Given the description of an element on the screen output the (x, y) to click on. 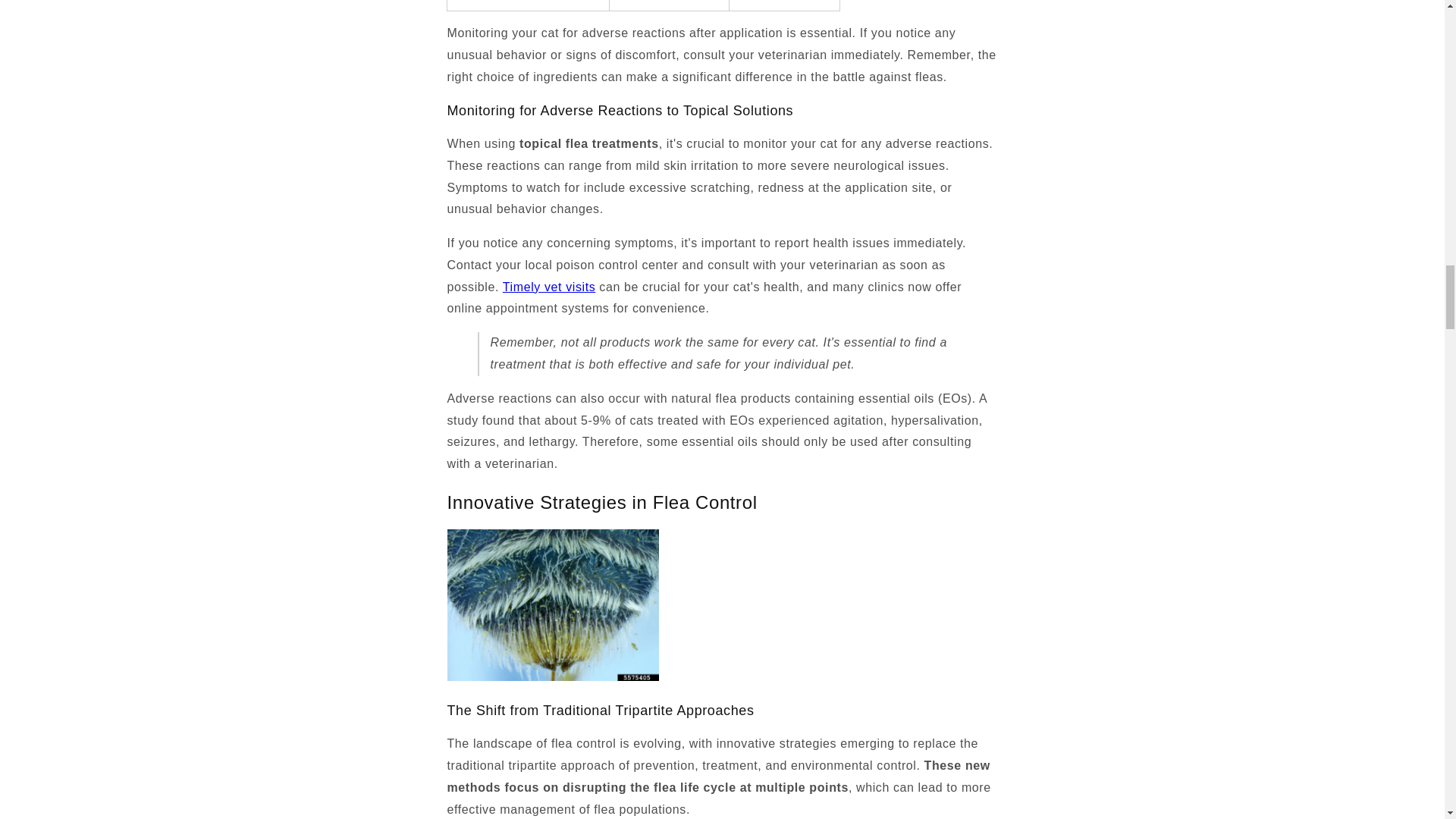
Timely vet visits (548, 286)
